Given the description of an element on the screen output the (x, y) to click on. 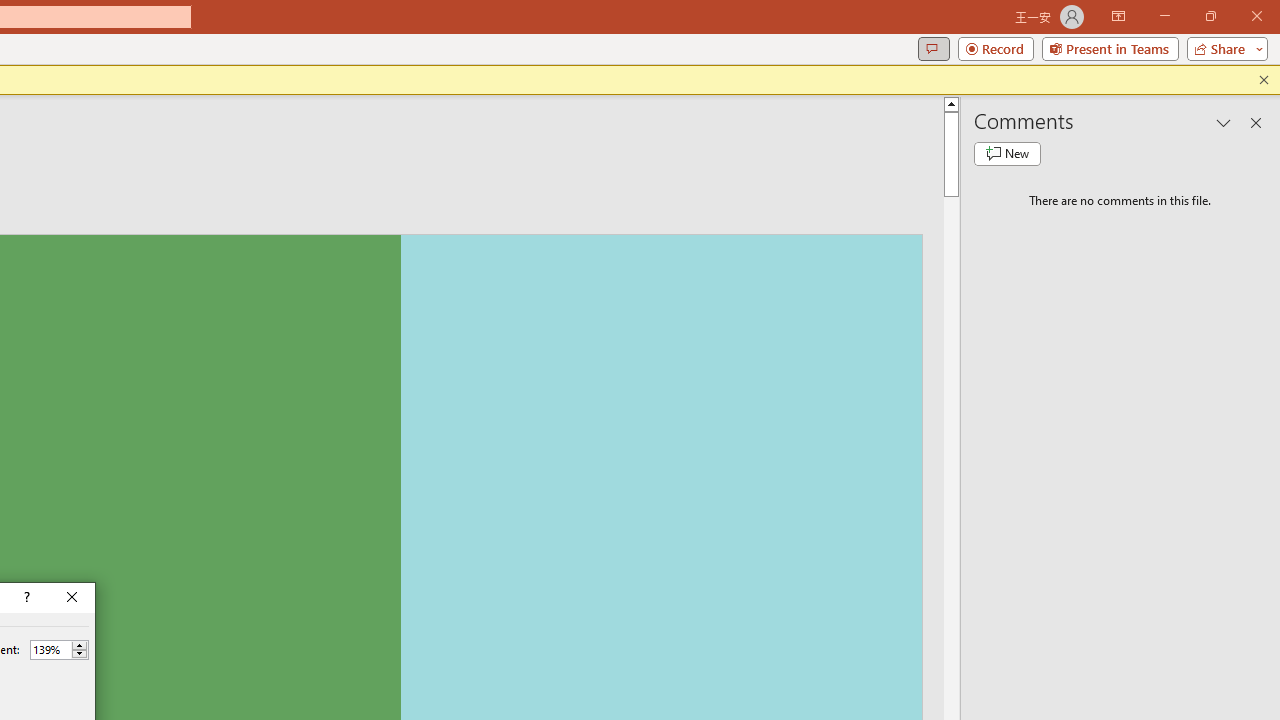
Buy Microsoft 365 (480, 211)
Search for help (995, 209)
Sign in to your account (1082, 211)
Buy Microsoft 365 (480, 210)
